Given the description of an element on the screen output the (x, y) to click on. 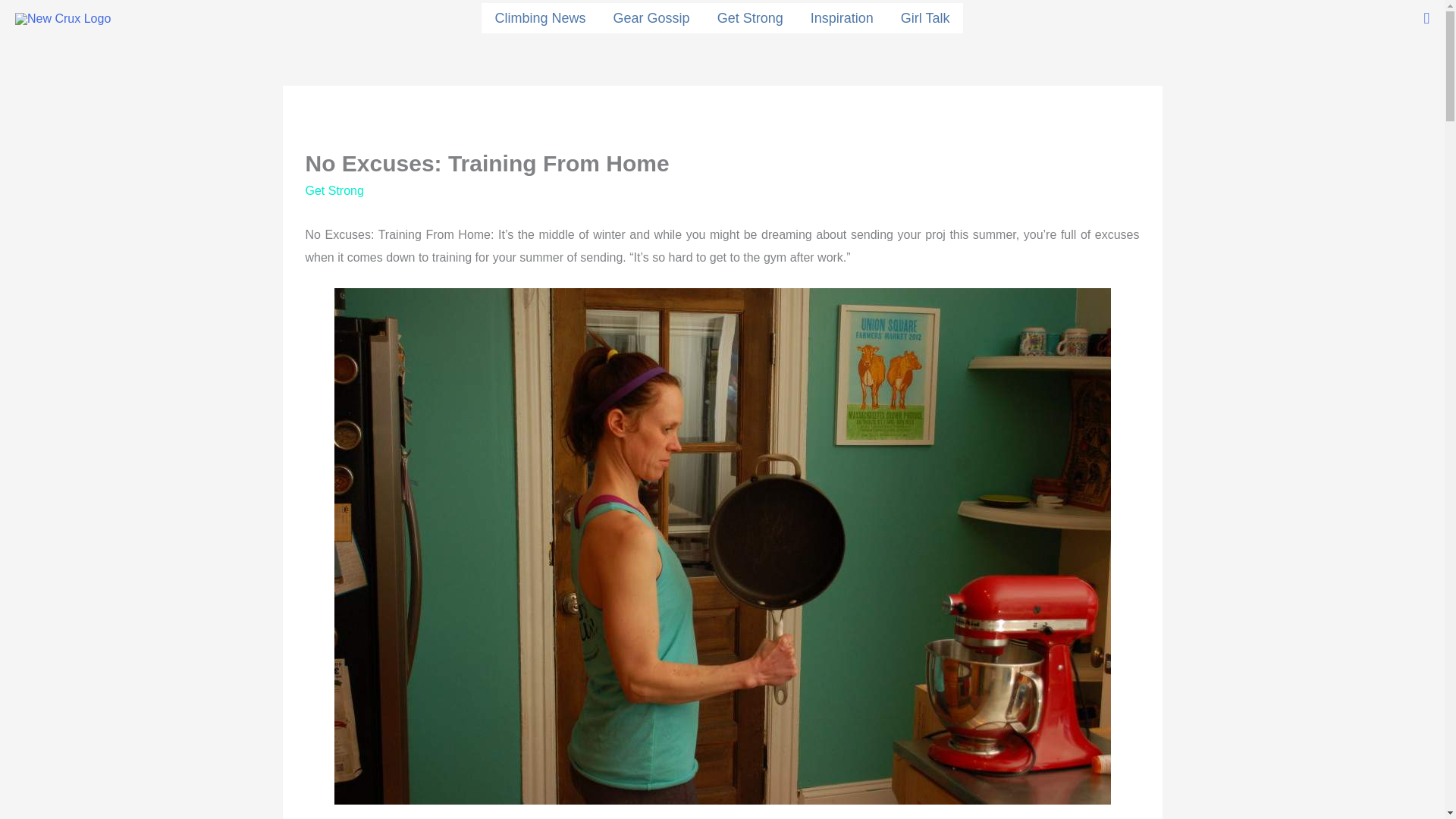
Inspiration (841, 18)
Gear Gossip (651, 18)
Get Strong (333, 190)
Climbing News (540, 18)
Get Strong (749, 18)
Girl Talk (924, 18)
